Given the description of an element on the screen output the (x, y) to click on. 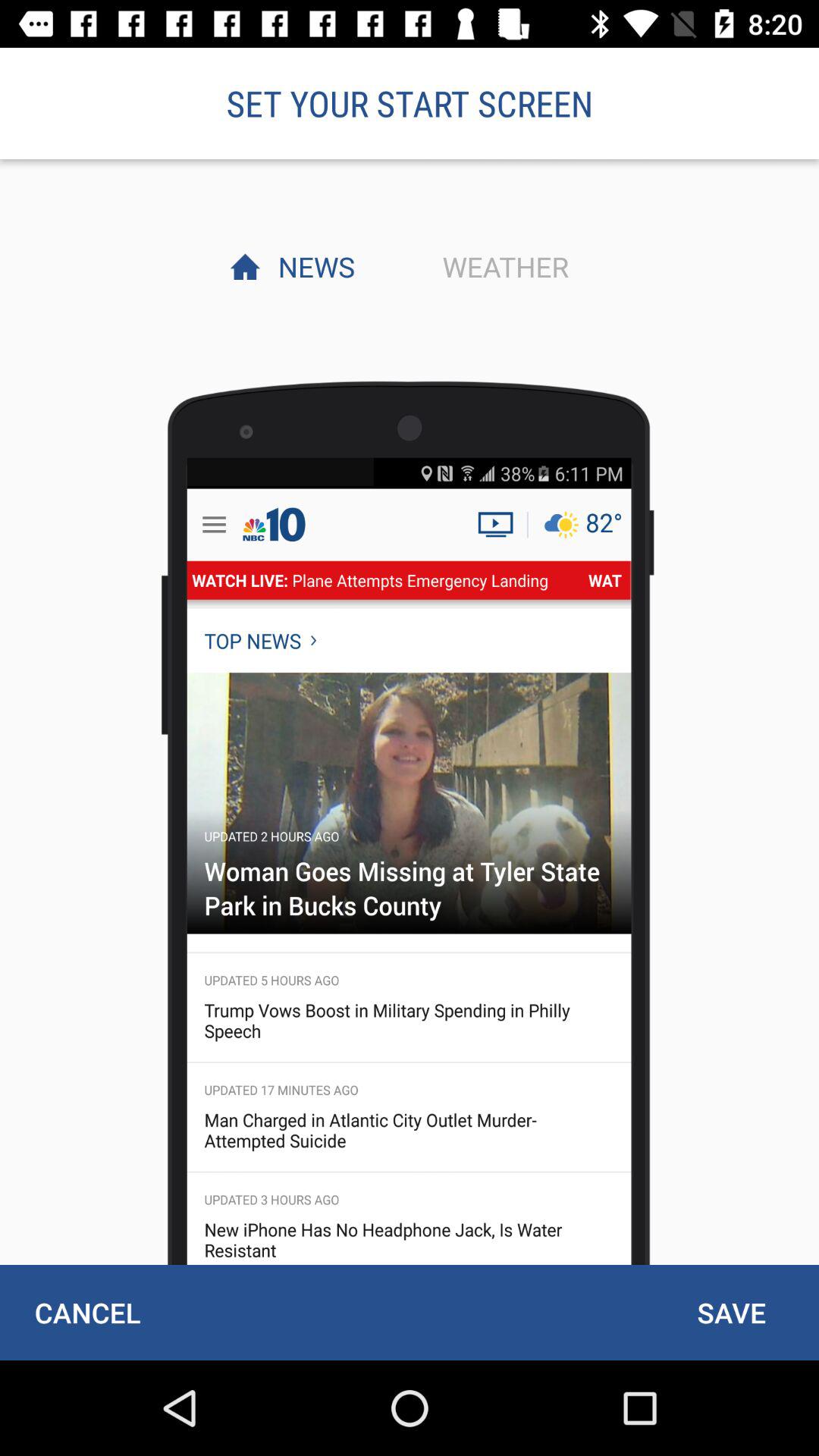
tap icon at the bottom left corner (87, 1312)
